Given the description of an element on the screen output the (x, y) to click on. 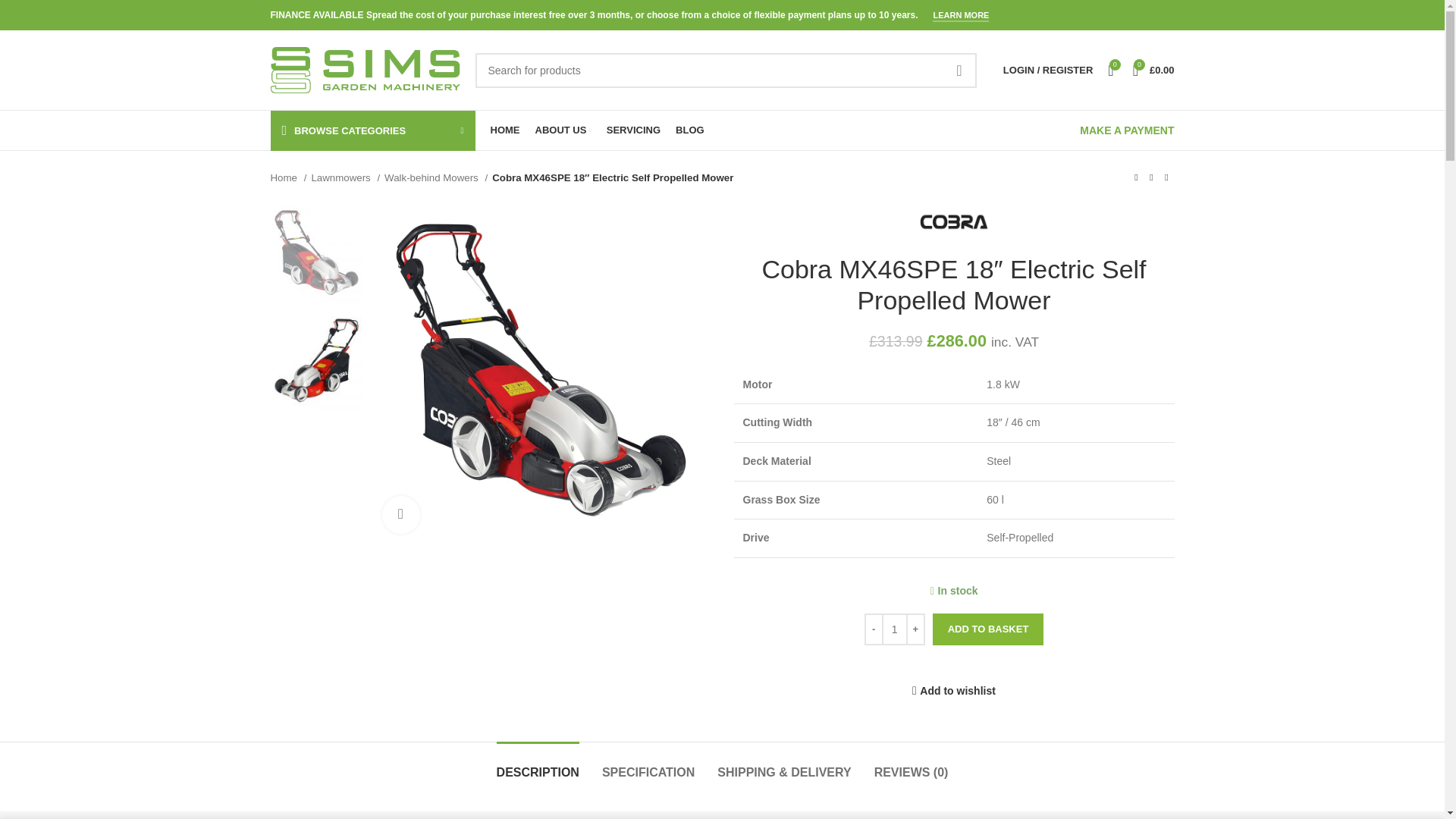
MAKE A PAYMENT (1126, 130)
1 (894, 629)
Walk-behind Mowers (435, 177)
SEARCH (959, 70)
Shopping cart (1153, 69)
Cobra (954, 221)
Home (287, 177)
My Wishlist (1110, 69)
My account (1047, 69)
Search for products (724, 70)
SERVICING (634, 130)
HOME (504, 130)
- (873, 629)
LEARN MORE (960, 16)
0 (1110, 69)
